Given the description of an element on the screen output the (x, y) to click on. 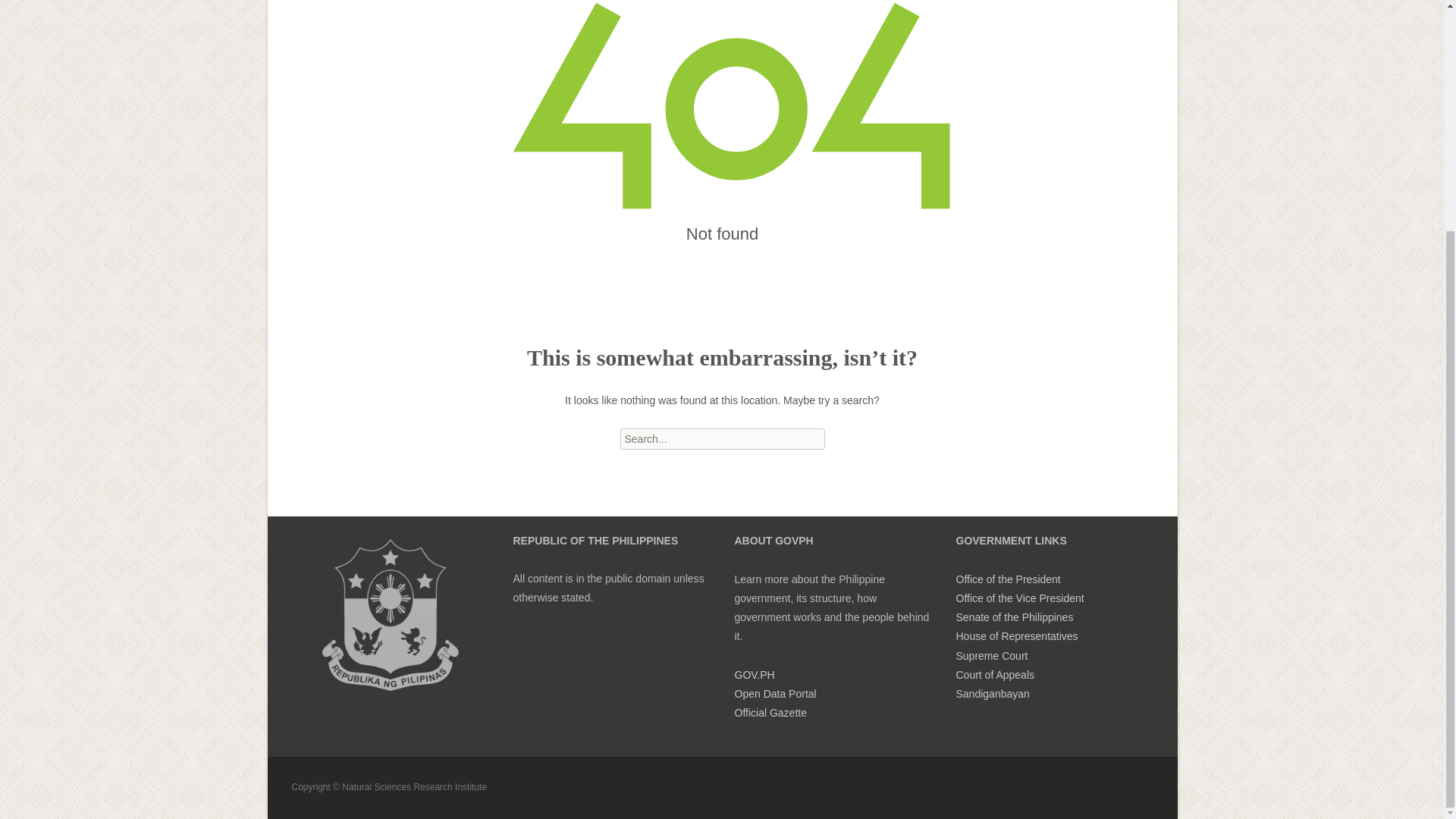
Office of the Vice President (1019, 598)
Supreme Court (991, 655)
Court of Appeals (994, 674)
Office of the President (1007, 579)
Sandiganbayan (992, 693)
Open Data Portal (774, 693)
Senate of the Philippines (1014, 616)
Official Gazette (769, 712)
GOV.PH (753, 674)
House of Representatives (1016, 635)
